Given the description of an element on the screen output the (x, y) to click on. 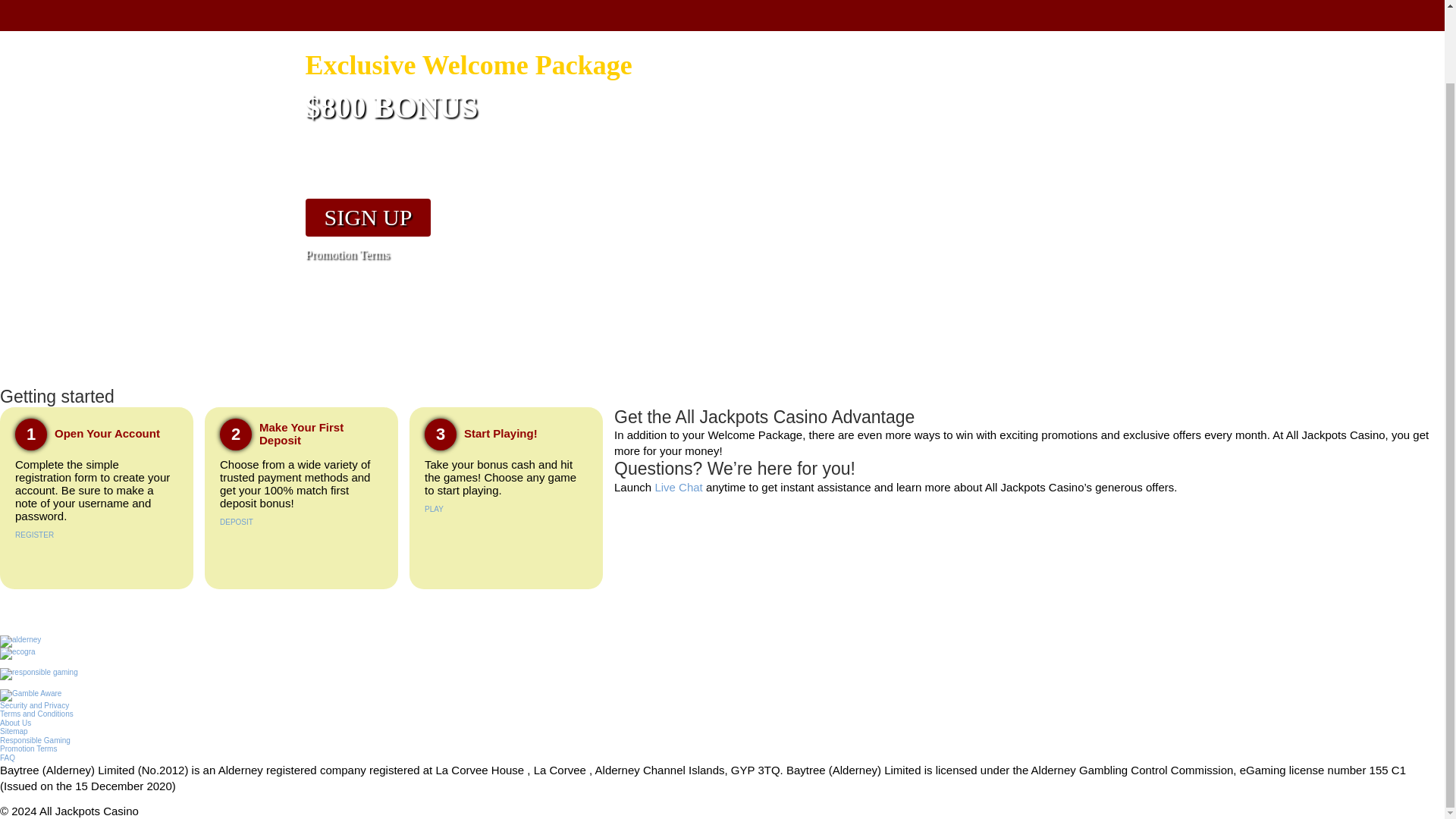
Welcome to All Jackpots Casino (33, 534)
GAMES (671, 11)
DEPOSIT (236, 521)
PLAY (434, 509)
Promotion Terms (532, 254)
Live Chat (677, 486)
ABOUT US (750, 11)
PROMOTIONS (844, 11)
GETTING STARTED (572, 11)
SIGN UP (367, 218)
RESPONSIBLE GAMING (1052, 11)
REGISTER (33, 534)
BANKING (935, 11)
